Given the description of an element on the screen output the (x, y) to click on. 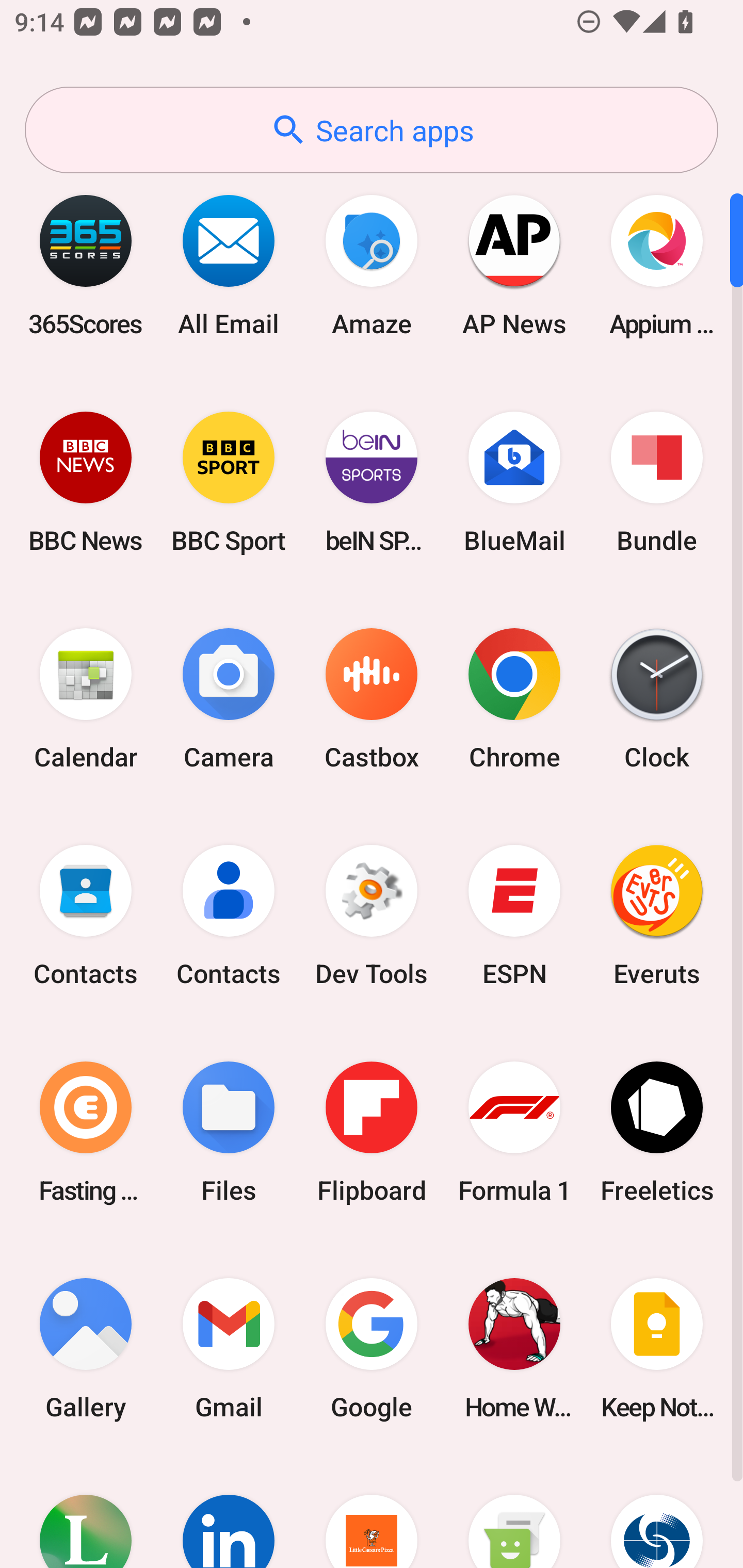
  Search apps (371, 130)
365Scores (85, 264)
All Email (228, 264)
Amaze (371, 264)
AP News (514, 264)
Appium Settings (656, 264)
BBC News (85, 482)
BBC Sport (228, 482)
beIN SPORTS (371, 482)
BlueMail (514, 482)
Bundle (656, 482)
Calendar (85, 699)
Camera (228, 699)
Castbox (371, 699)
Chrome (514, 699)
Clock (656, 699)
Contacts (85, 915)
Contacts (228, 915)
Dev Tools (371, 915)
ESPN (514, 915)
Everuts (656, 915)
Fasting Coach (85, 1131)
Files (228, 1131)
Flipboard (371, 1131)
Formula 1 (514, 1131)
Freeletics (656, 1131)
Gallery (85, 1348)
Gmail (228, 1348)
Google (371, 1348)
Home Workout (514, 1348)
Keep Notes (656, 1348)
